Given the description of an element on the screen output the (x, y) to click on. 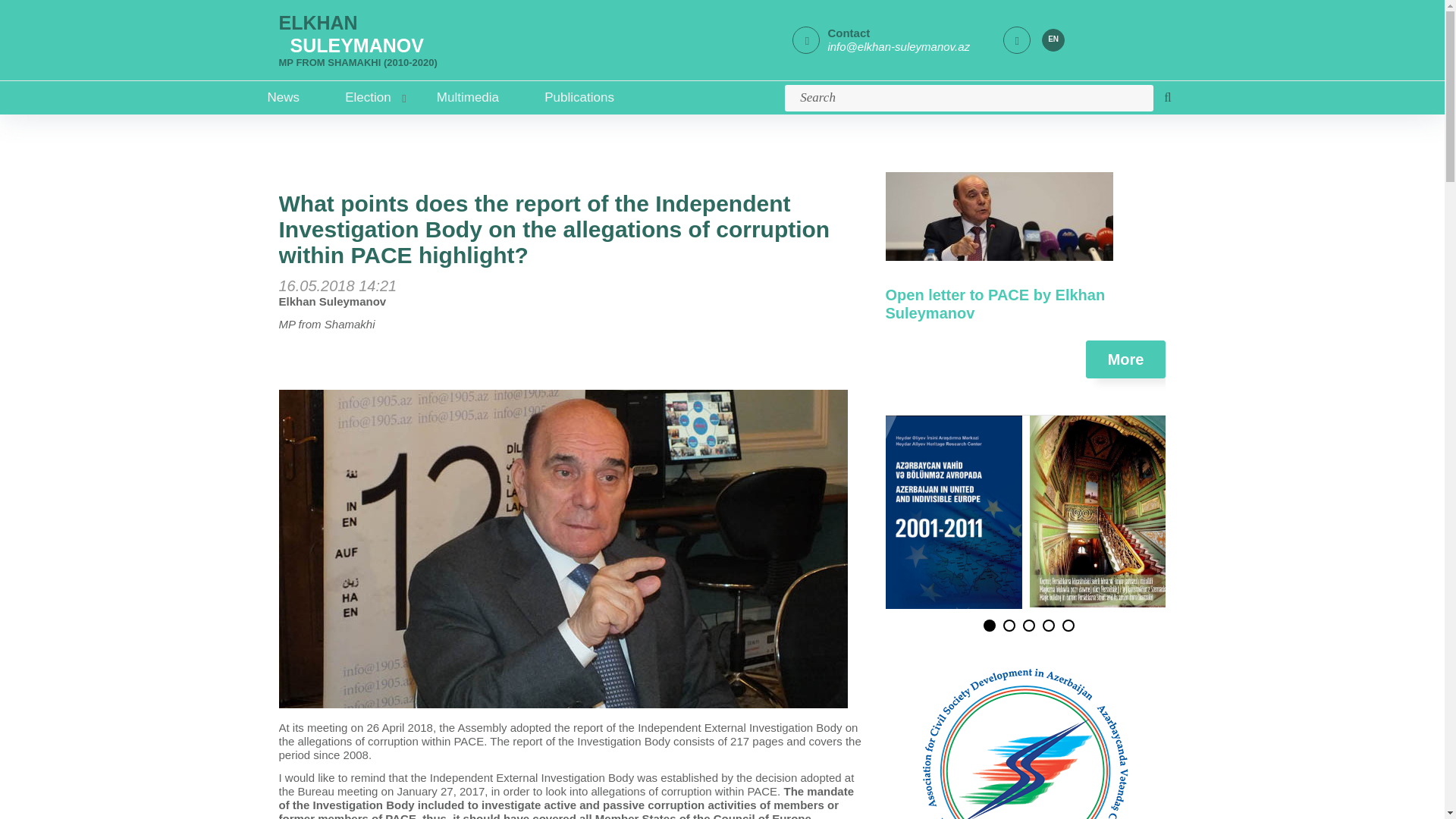
News (286, 97)
Open letter to PACE by Elkhan Suleymanov (995, 303)
Election (367, 97)
EN (1053, 39)
Publications (579, 97)
More (1126, 359)
Multimedia (467, 97)
Contact (848, 32)
